Given the description of an element on the screen output the (x, y) to click on. 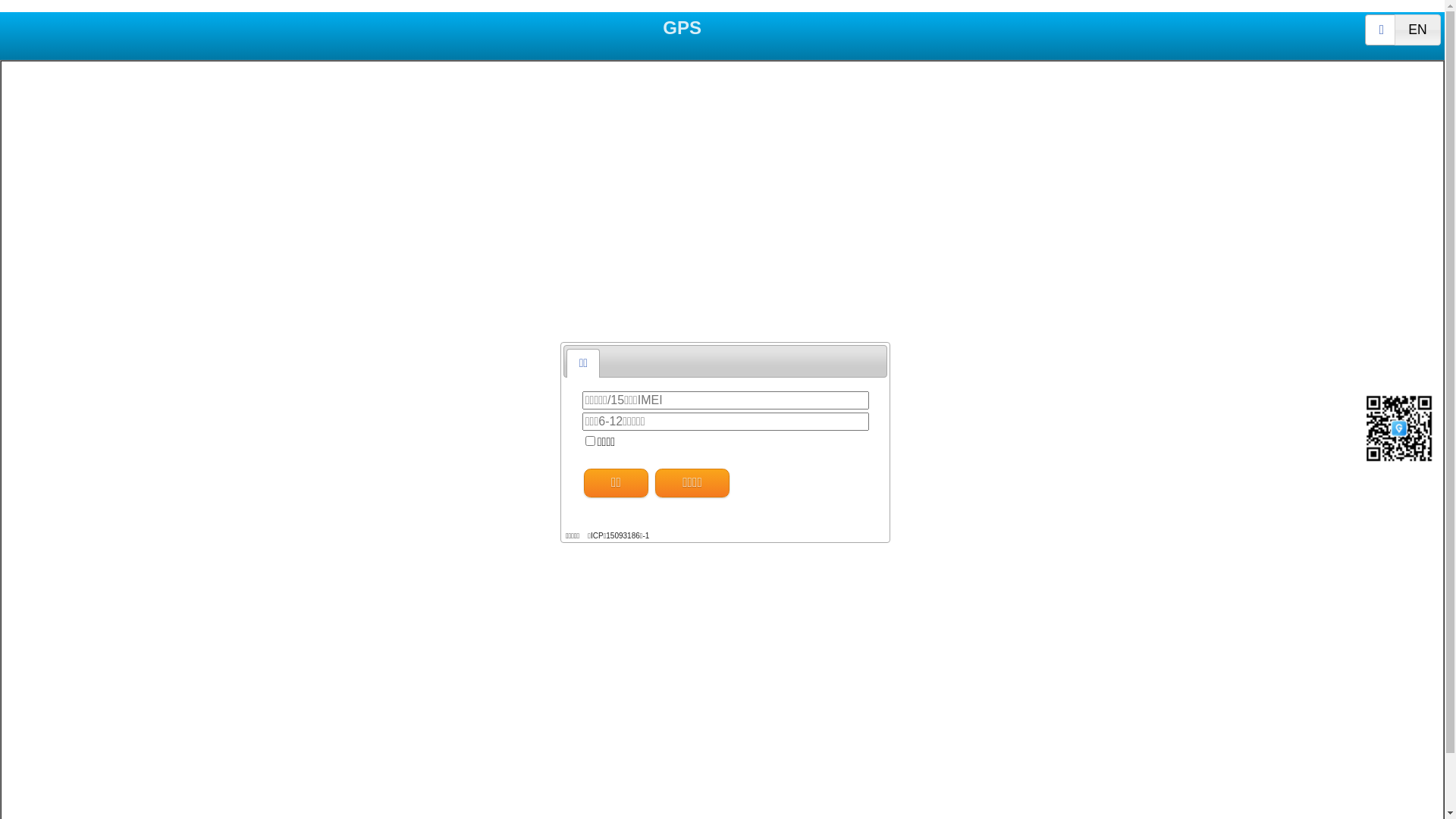
on Element type: text (1393, 13)
on Element type: text (1364, 13)
